Given the description of an element on the screen output the (x, y) to click on. 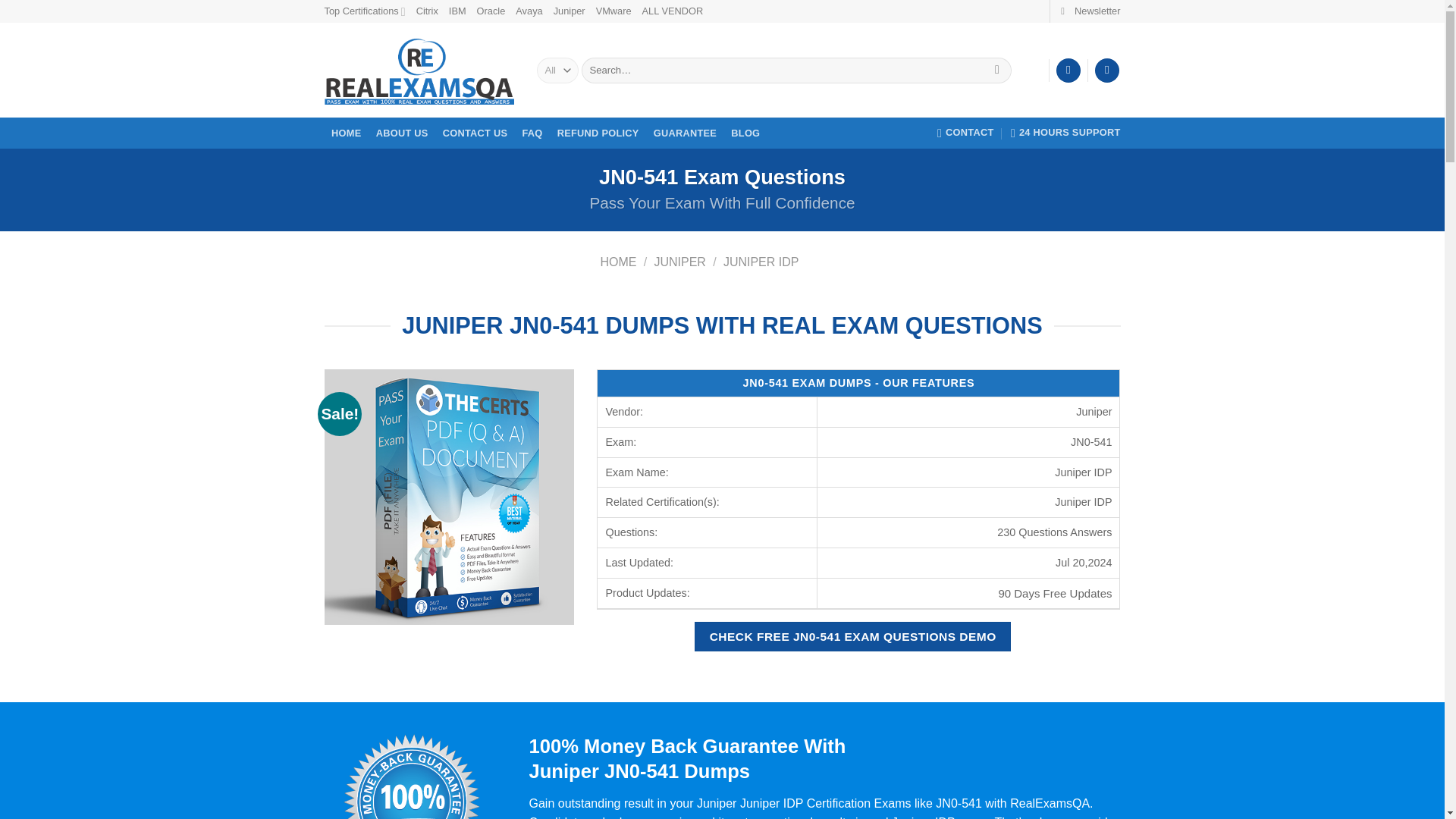
VMware (613, 11)
ALL VENDOR (672, 11)
Sign up for Newsletter (1090, 11)
Cart (1106, 70)
thecertsdumps (449, 496)
24 Hours SUPPORT  (1065, 132)
Top Certifications (365, 11)
Juniper (569, 11)
Avaya (528, 11)
Citrix (427, 11)
RealExamsQA (418, 70)
Oracle (491, 11)
IBM (456, 11)
Newsletter (1090, 11)
